Given the description of an element on the screen output the (x, y) to click on. 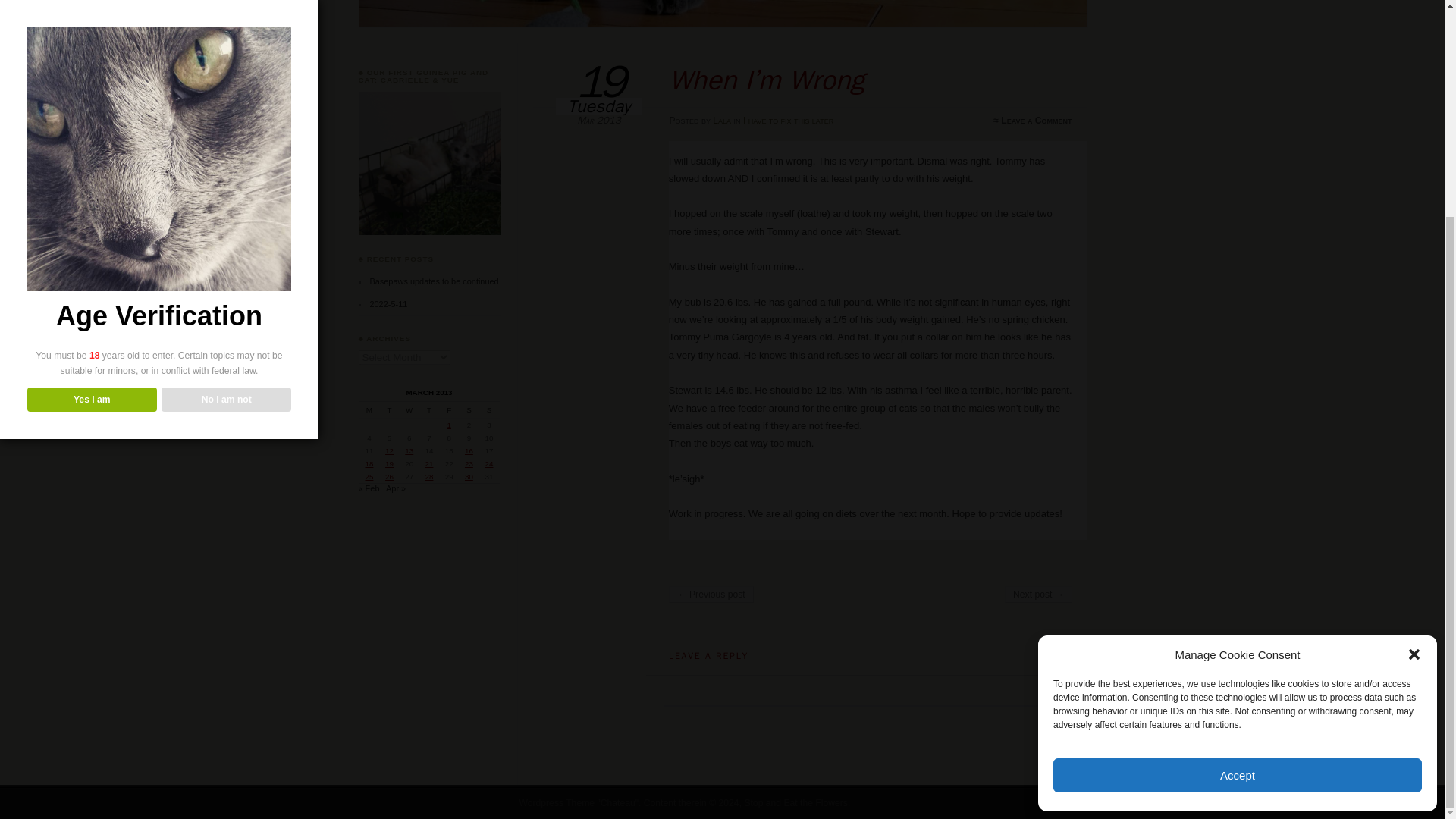
18 (368, 463)
19 (389, 463)
12 (389, 450)
16 (468, 450)
View all posts by Lala (721, 120)
25 (368, 476)
26 (389, 476)
Friday (448, 410)
13 (408, 450)
